Given the description of an element on the screen output the (x, y) to click on. 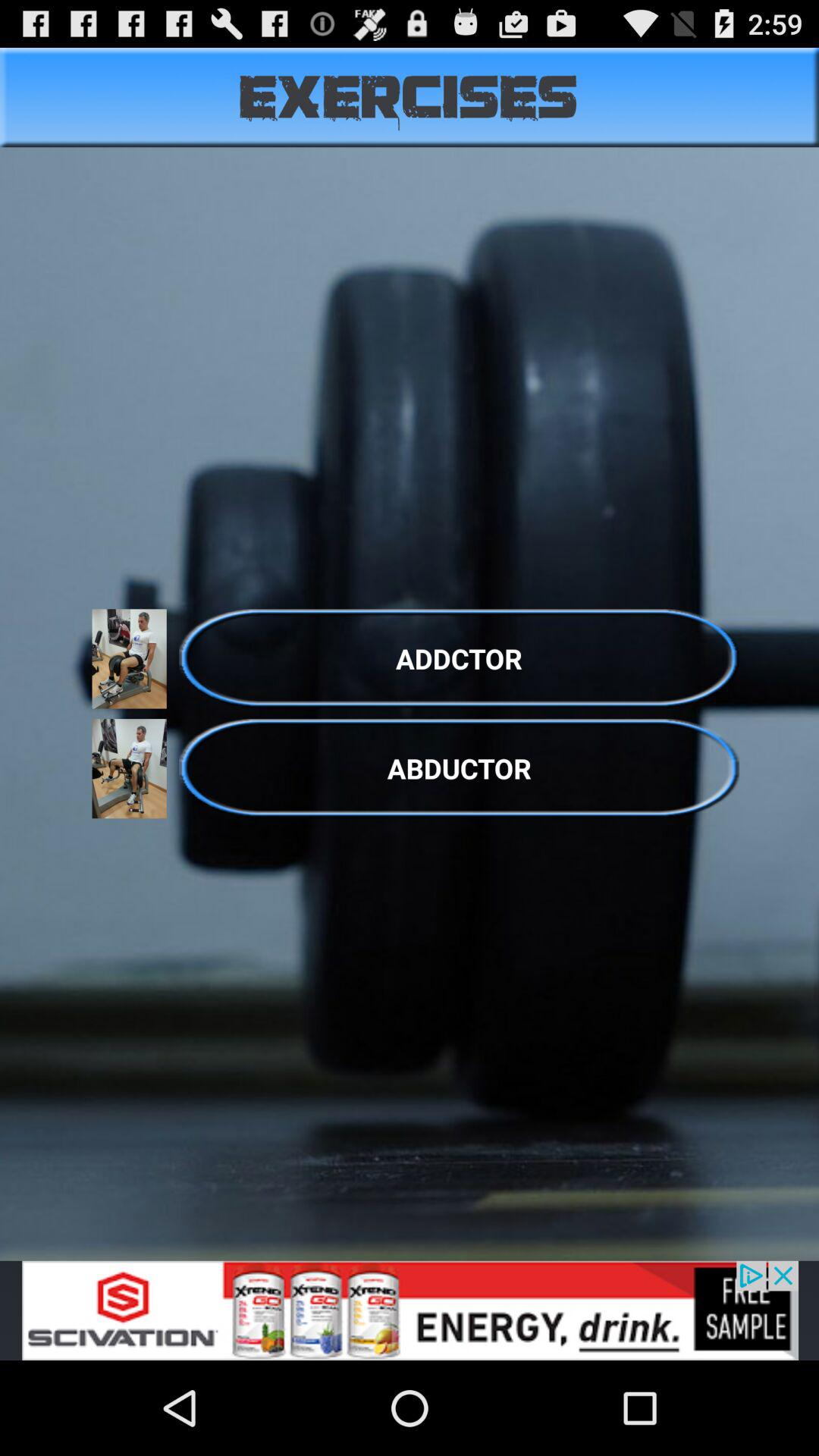
go to advertisement (409, 1310)
